Given the description of an element on the screen output the (x, y) to click on. 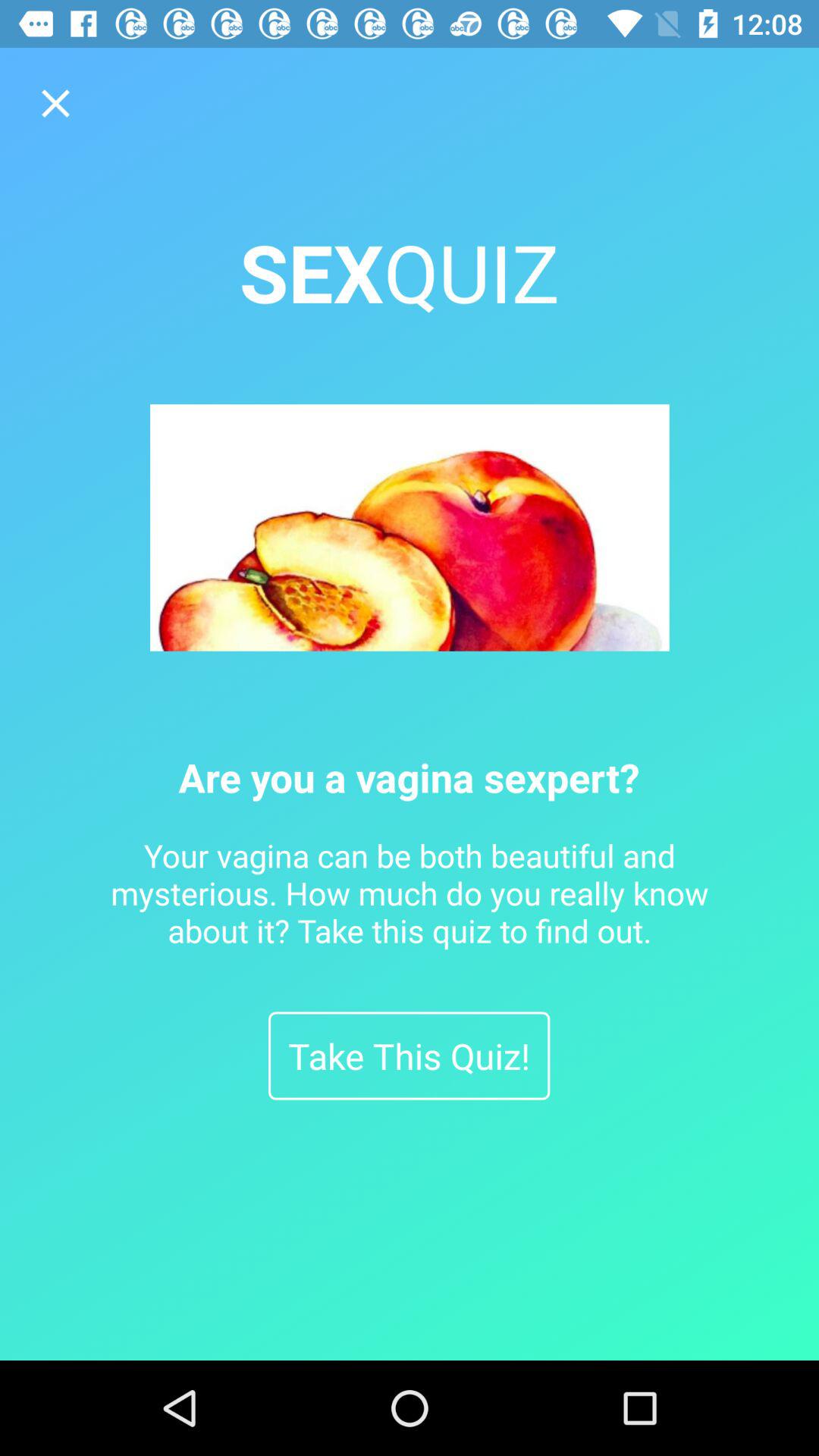
close the quiz (55, 103)
